Given the description of an element on the screen output the (x, y) to click on. 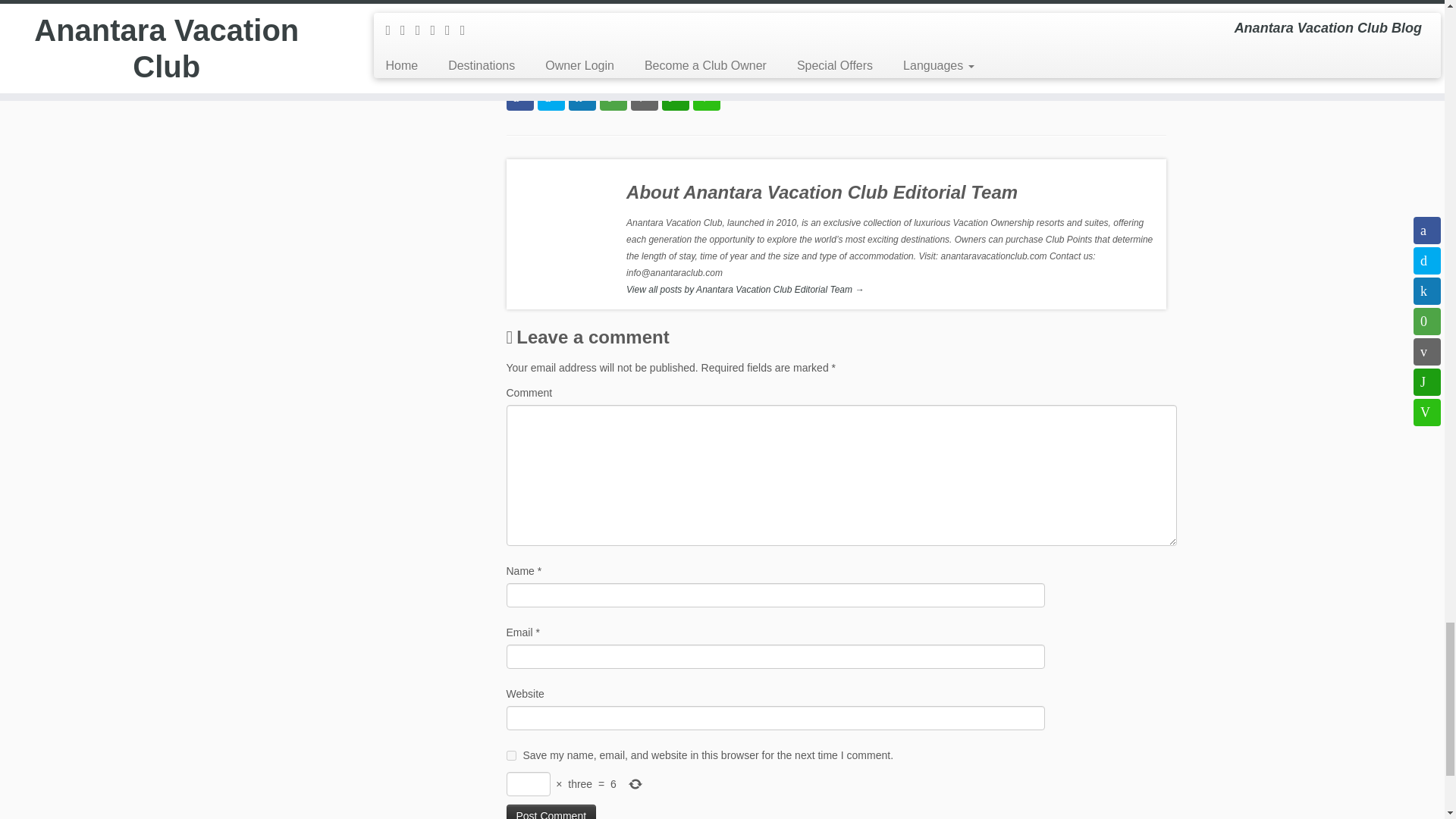
yes (511, 755)
Anantara Bophut Koh Samui Resort (823, 54)
here (890, 62)
Post Comment (551, 811)
